Given the description of an element on the screen output the (x, y) to click on. 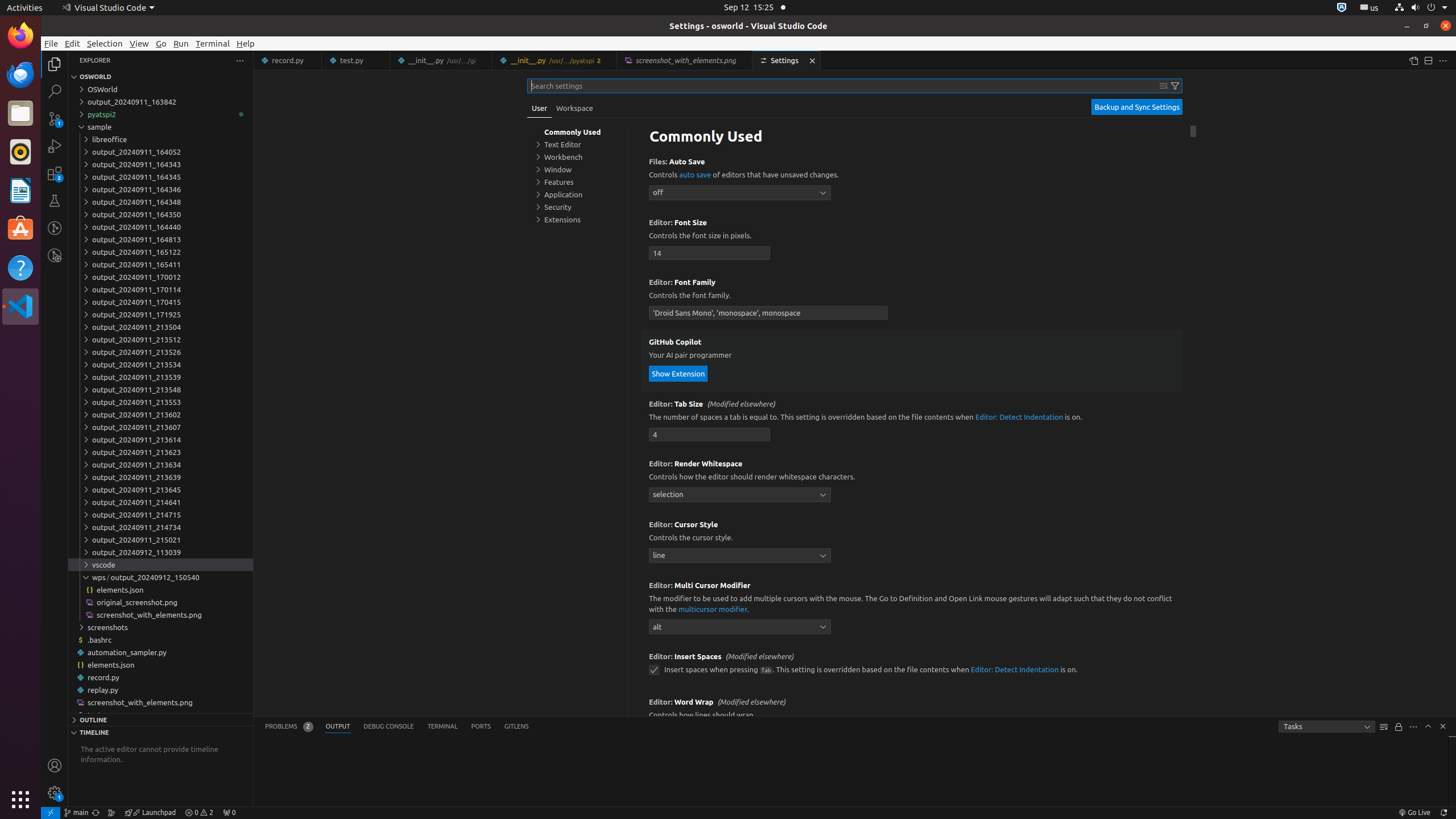
output_20240911_170012 Element type: tree-item (160, 276)
auto save Element type: link (695, 174)
No Ports Forwarded Element type: push-button (228, 812)
Hide Panel Element type: push-button (1442, 726)
Editor Font Family. Controls the font family.  Element type: tree-item (911, 299)
